Given the description of an element on the screen output the (x, y) to click on. 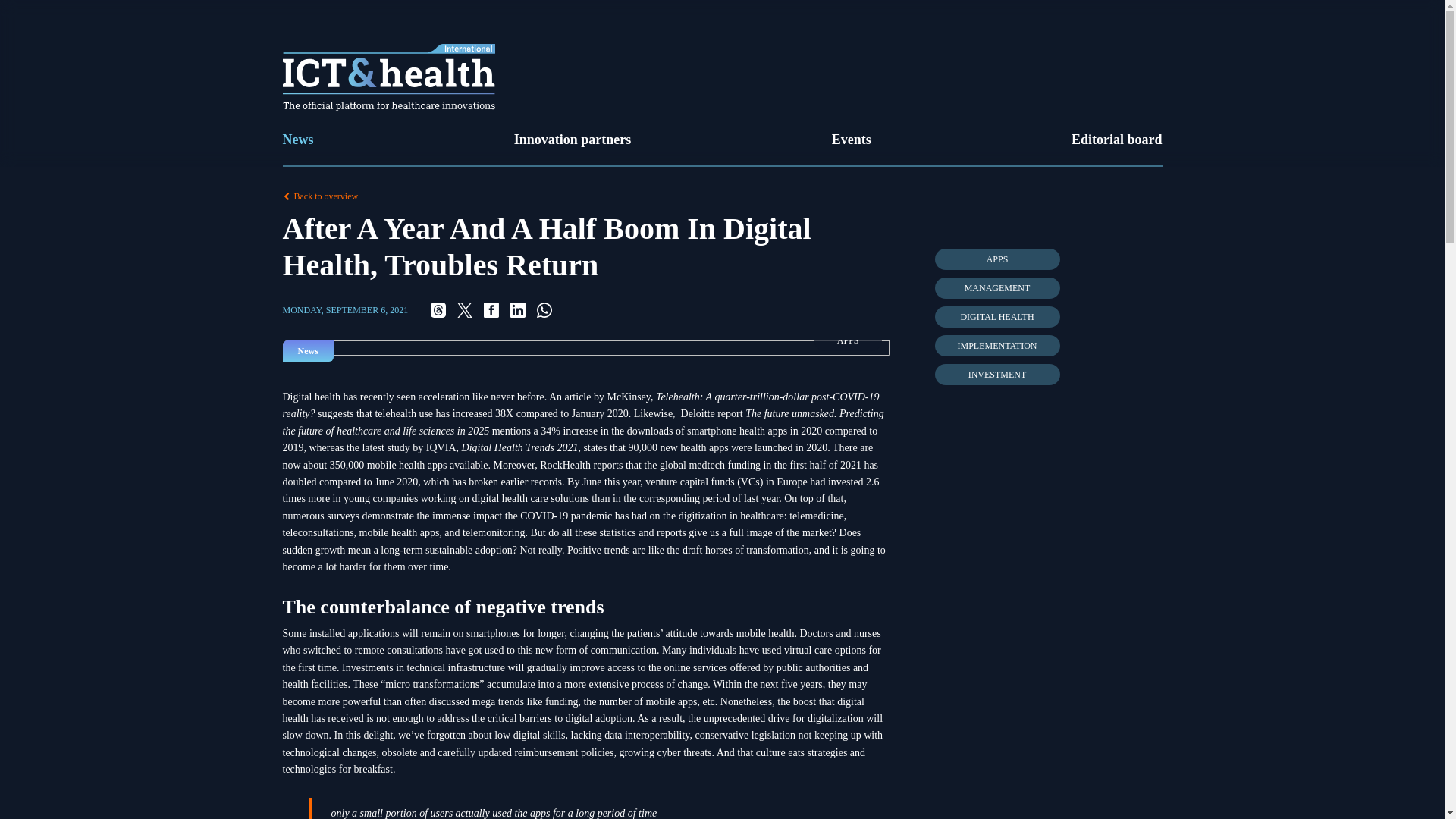
Share on LinkedIn (518, 309)
News (297, 139)
Go to Events (850, 139)
APPS (996, 259)
Innovation partners (572, 139)
Go to Editorial board (1116, 139)
Share on Facebook (491, 309)
IMPLEMENTATION (996, 345)
MANAGEMENT (996, 287)
Share on Threads (437, 309)
